Given the description of an element on the screen output the (x, y) to click on. 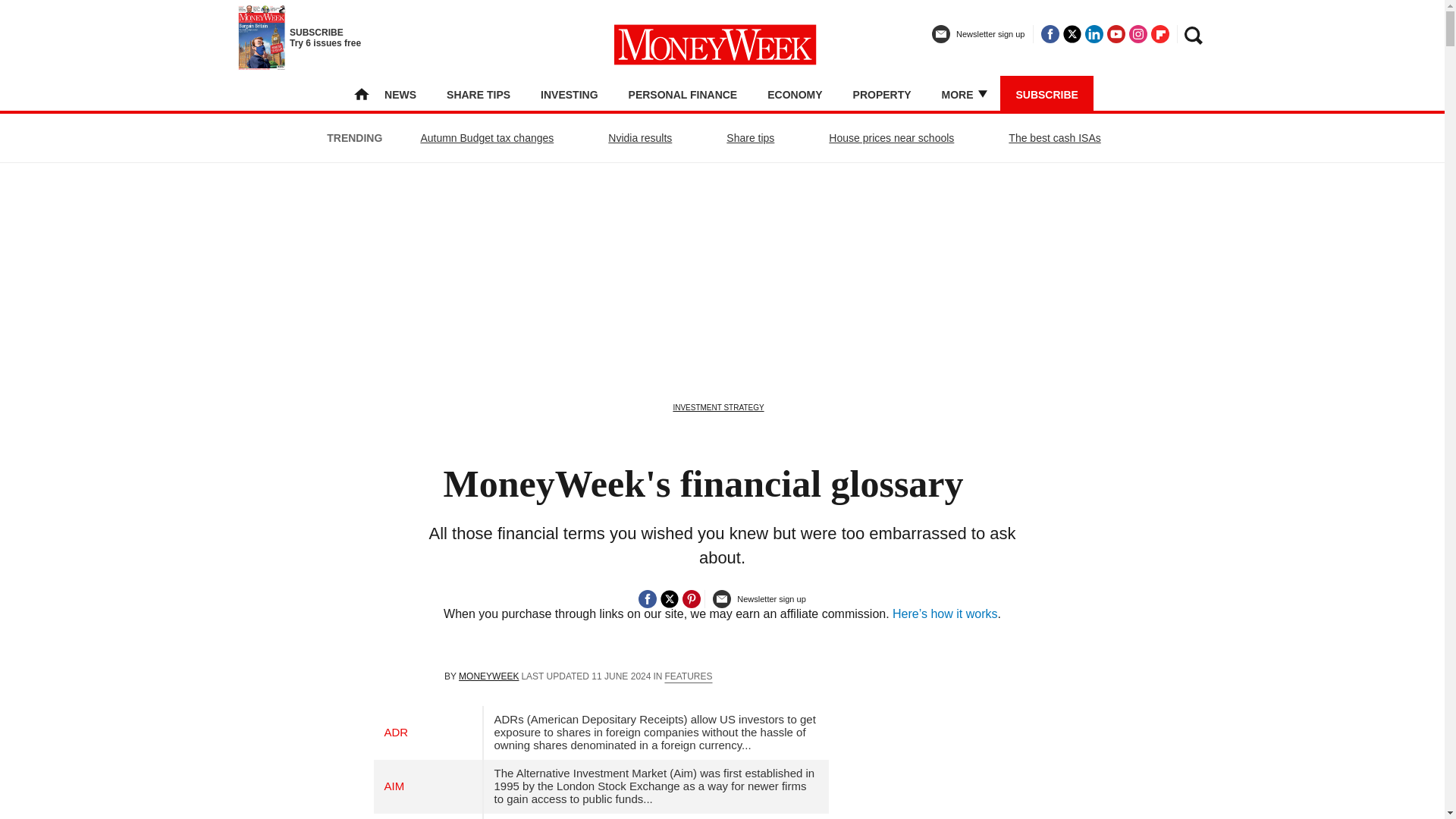
Nvidia results (639, 137)
SUBSCRIBE (1045, 94)
PERSONAL FINANCE (683, 94)
SHARE TIPS (478, 94)
INVESTING (568, 94)
Autumn Budget tax changes (486, 137)
ECONOMY (794, 94)
Share tips (316, 38)
NEWS (749, 137)
